Given the description of an element on the screen output the (x, y) to click on. 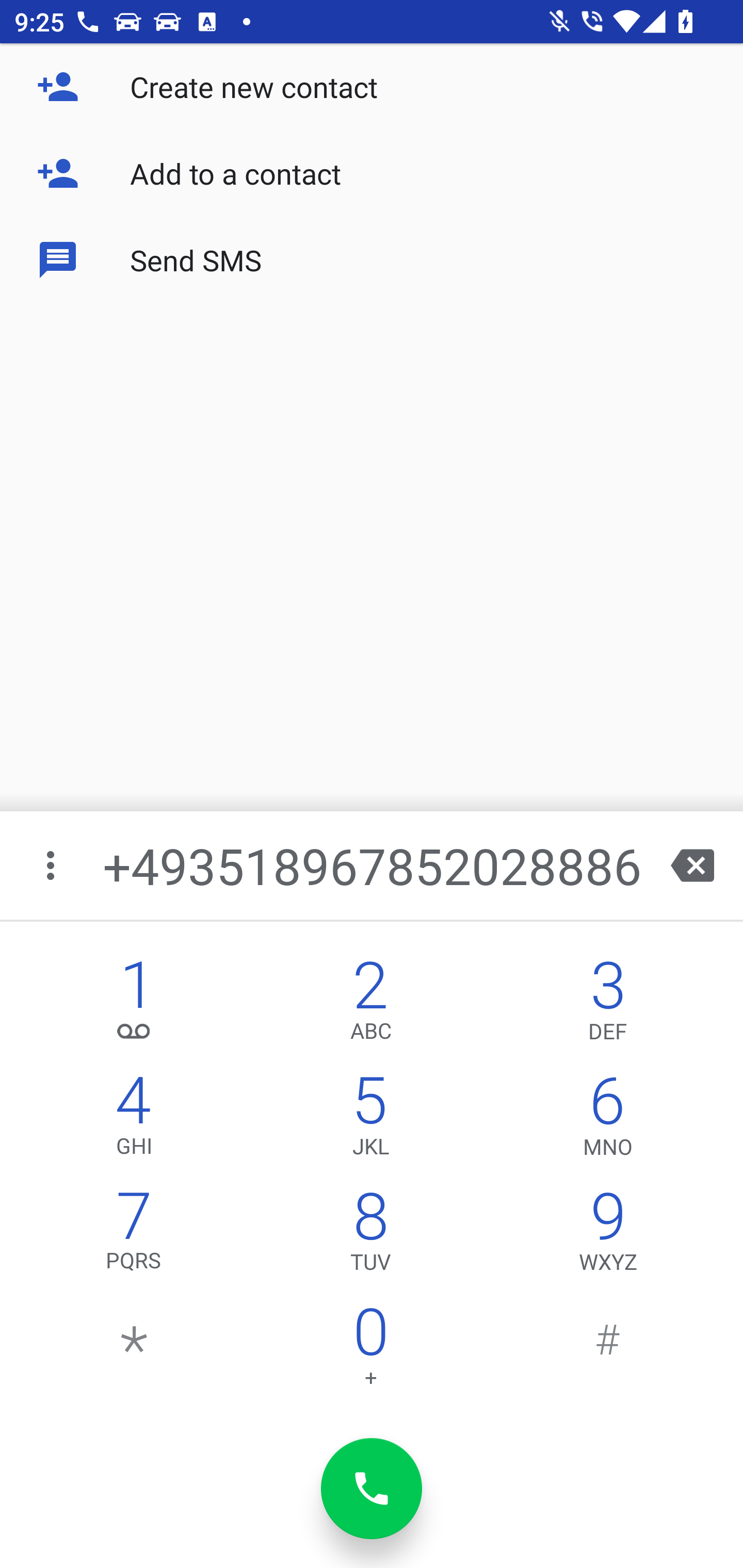
Create new contact (371, 86)
Add to a contact (371, 173)
Send SMS (371, 259)
+493518967852028886 (372, 865)
backspace (692, 865)
More options (52, 865)
1, 1 (133, 1005)
2,ABC 2 ABC (370, 1005)
3,DEF 3 DEF (607, 1005)
4,GHI 4 GHI (133, 1120)
5,JKL 5 JKL (370, 1120)
6,MNO 6 MNO (607, 1120)
7,PQRS 7 PQRS (133, 1235)
8,TUV 8 TUV (370, 1235)
9,WXYZ 9 WXYZ (607, 1235)
* (133, 1351)
0 0 + (370, 1351)
# (607, 1351)
dial (371, 1488)
